Given the description of an element on the screen output the (x, y) to click on. 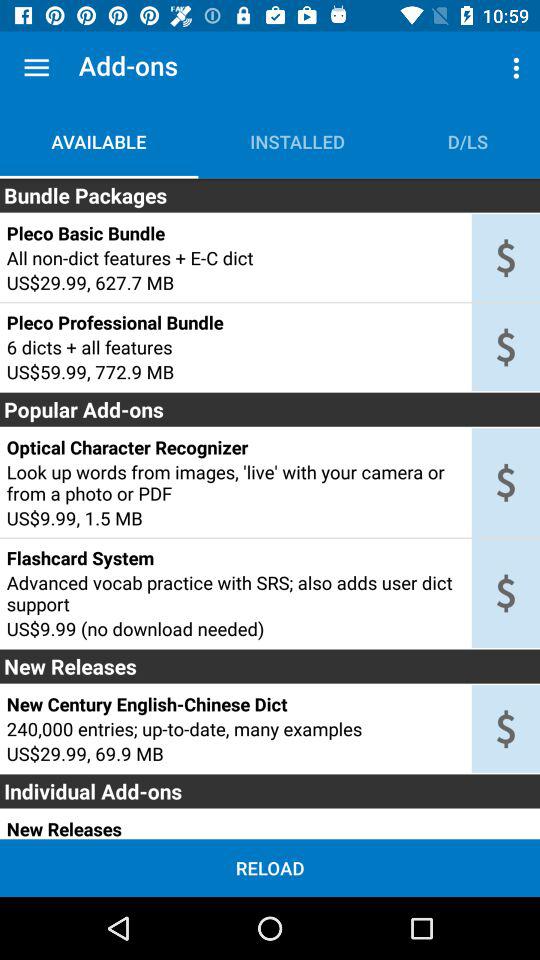
choose the item above the us 29 99 (235, 728)
